Given the description of an element on the screen output the (x, y) to click on. 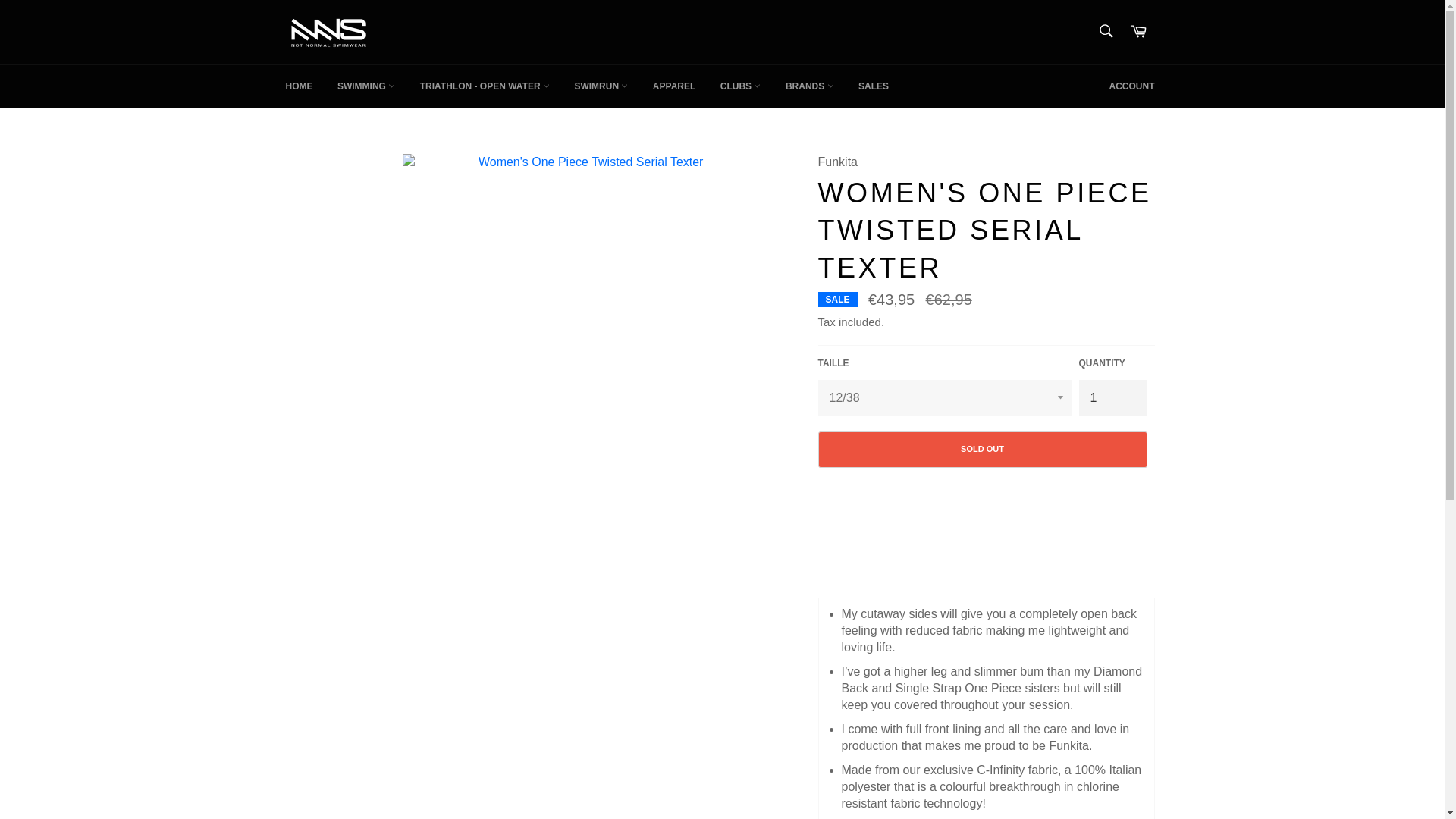
1 (1112, 398)
